Given the description of an element on the screen output the (x, y) to click on. 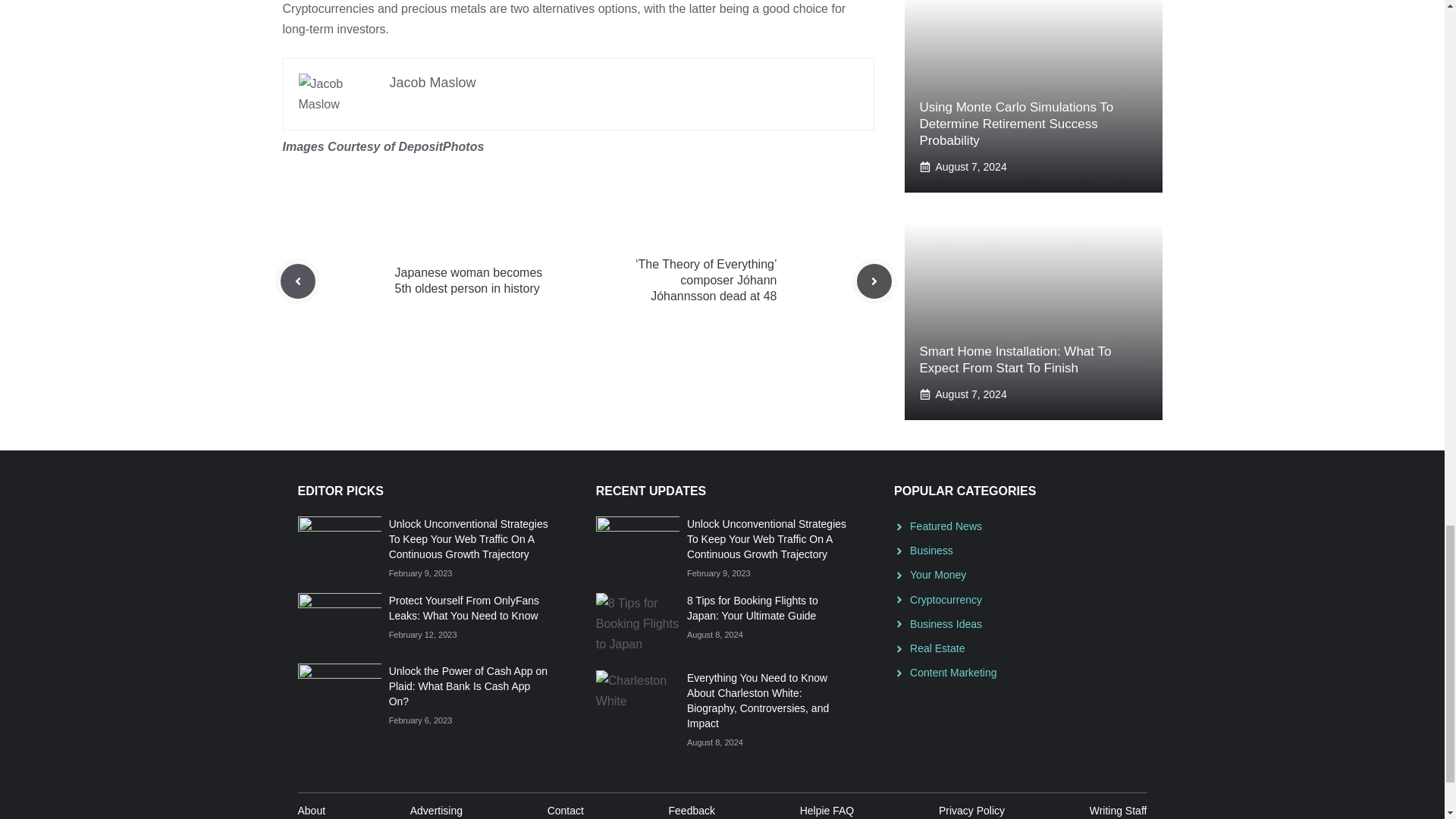
Jacob Maslow (433, 82)
Protect Yourself From OnlyFans Leaks: What You Need to Know (463, 607)
DepositPhotos (440, 146)
8 Tips for Booking Flights to Japan: Your Ultimate Guide (752, 607)
Japanese woman becomes 5th oldest person in history (467, 280)
Smart Home Installation: What To Expect From Start To Finish (1014, 359)
